Given the description of an element on the screen output the (x, y) to click on. 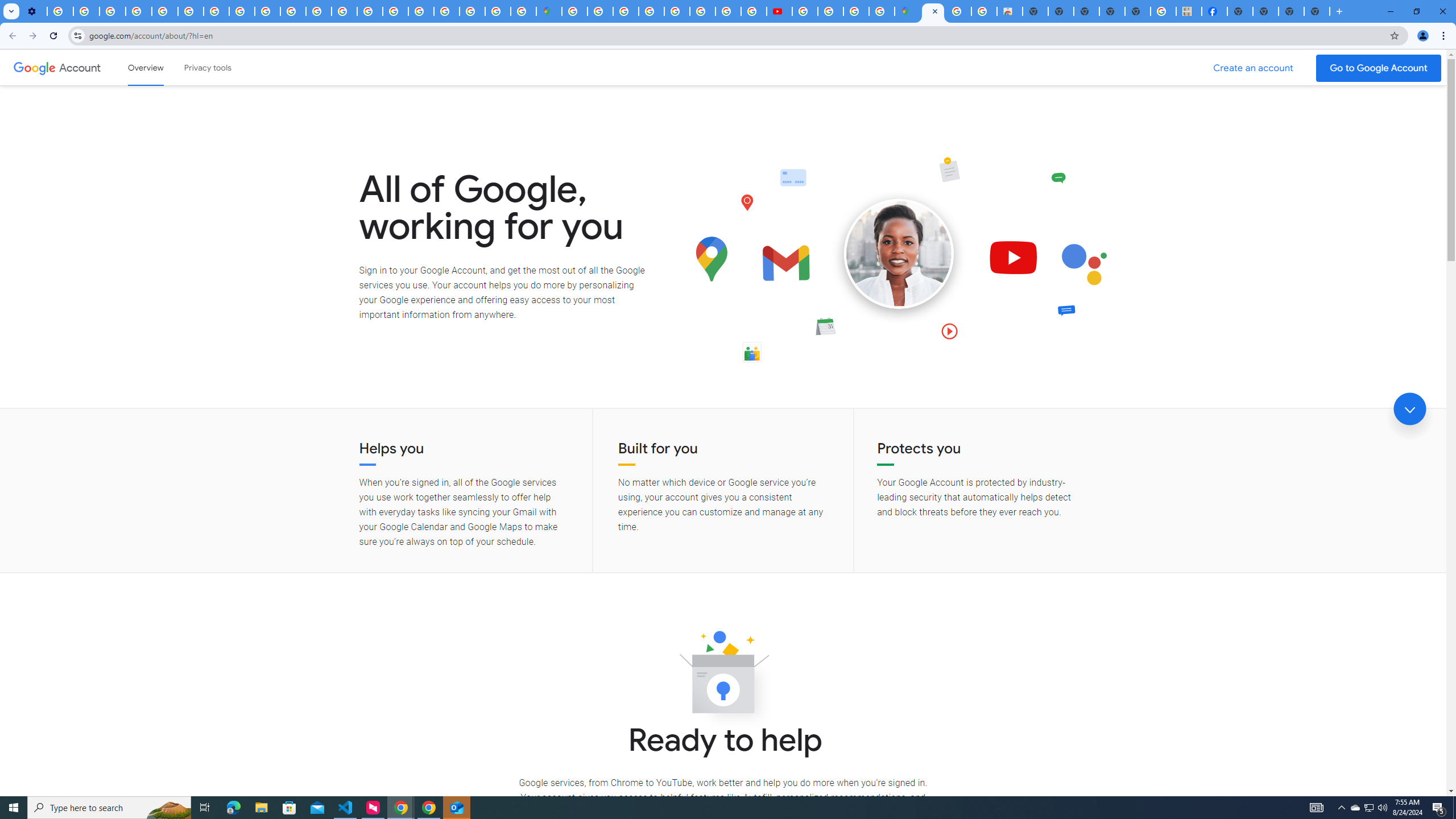
Privacy Help Center - Policies Help (165, 11)
Settings - Customize profile (34, 11)
Sign in - Google Accounts (574, 11)
Privacy Checkup (293, 11)
Google Maps (548, 11)
Subscriptions - YouTube (779, 11)
Skip to Content (162, 65)
